Given the description of an element on the screen output the (x, y) to click on. 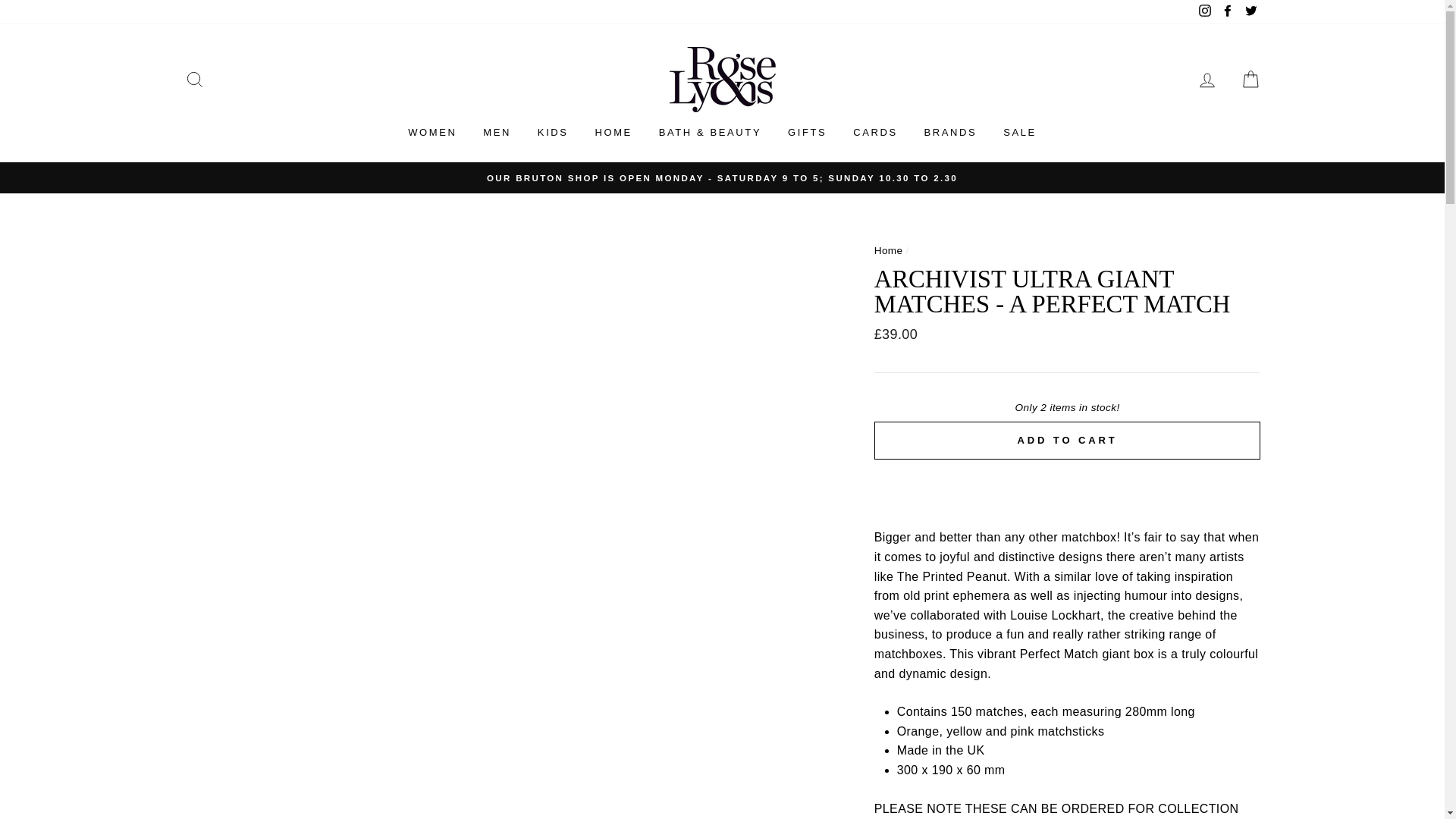
Back to the frontpage (888, 250)
